Given the description of an element on the screen output the (x, y) to click on. 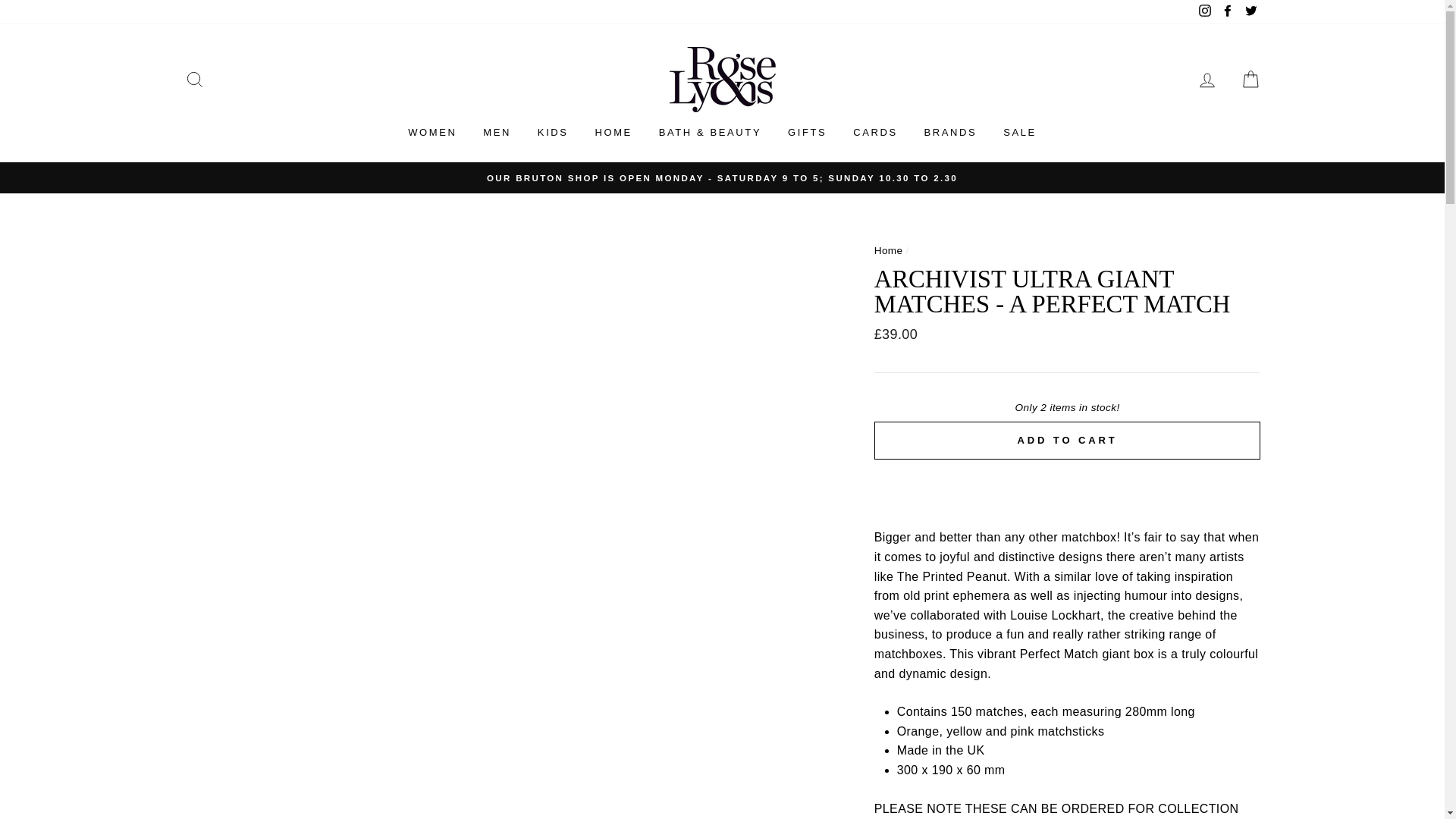
Back to the frontpage (888, 250)
